Given the description of an element on the screen output the (x, y) to click on. 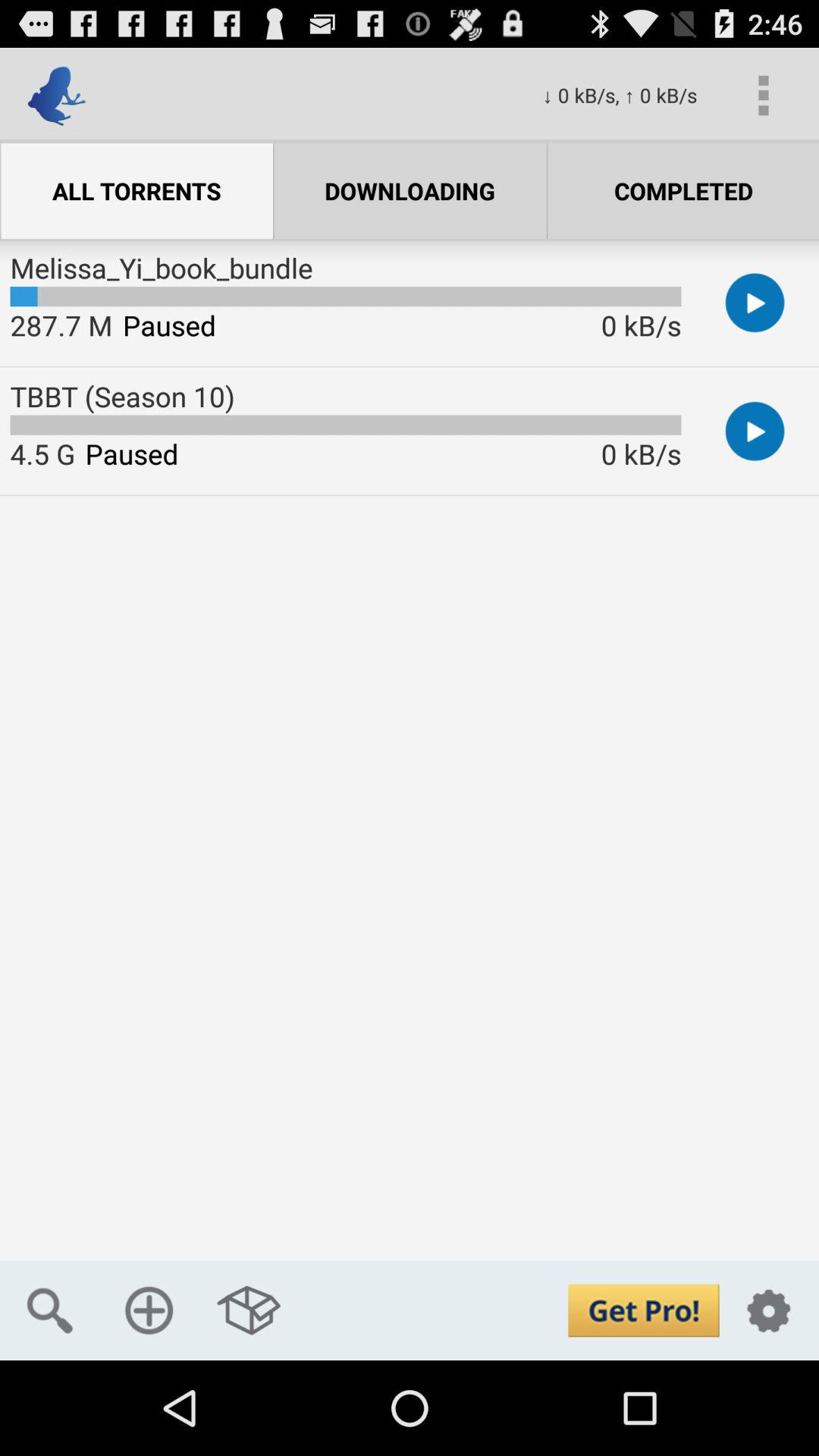
get the pro version (643, 1310)
